Given the description of an element on the screen output the (x, y) to click on. 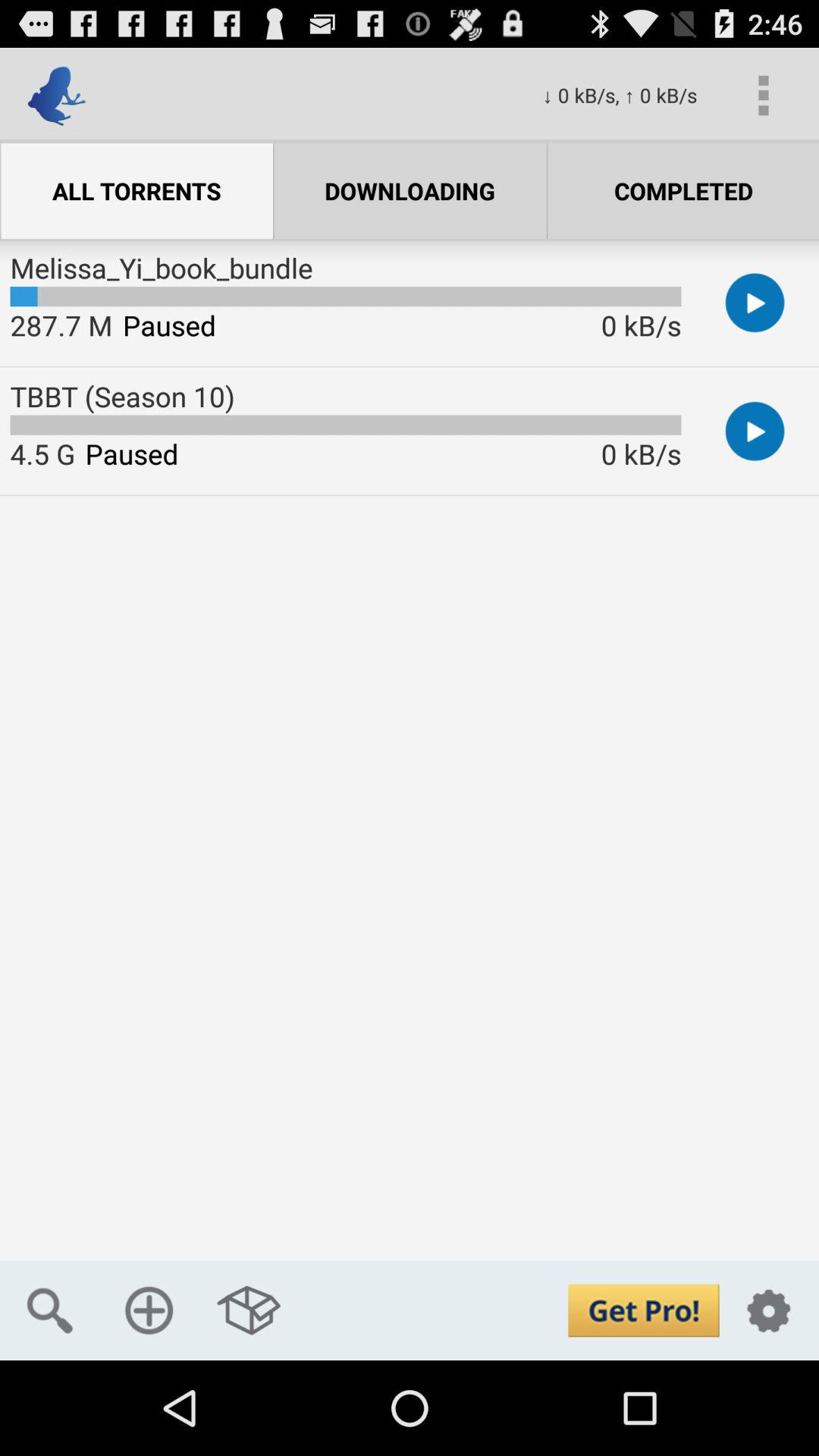
get the pro version (643, 1310)
